Given the description of an element on the screen output the (x, y) to click on. 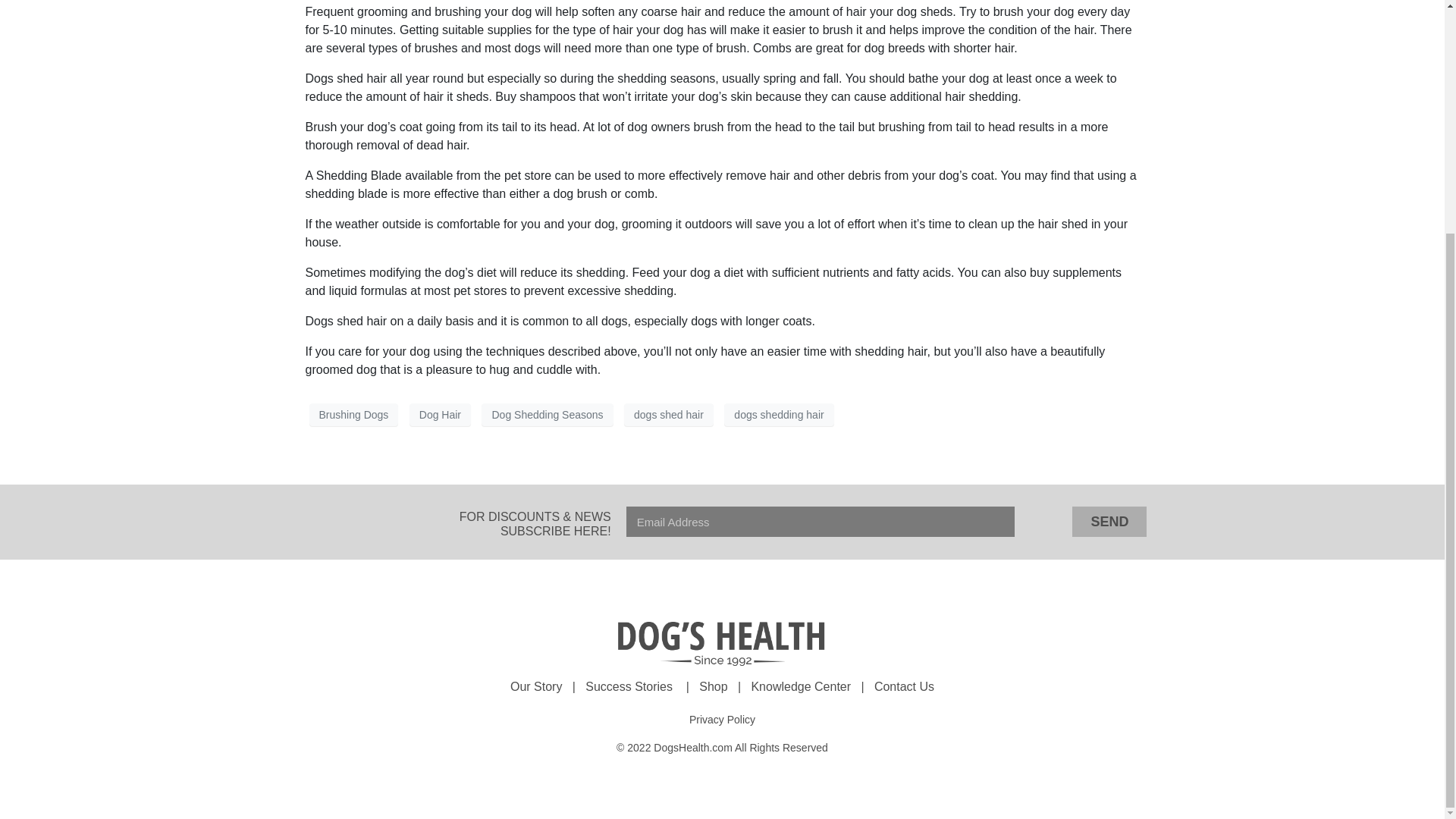
Dog Shedding Seasons (546, 414)
Dog Hair (439, 414)
Brushing Dogs (353, 414)
dogs shedding hair (777, 414)
dogs shed hair (668, 414)
SEND (1109, 521)
Our Story (536, 686)
